Given the description of an element on the screen output the (x, y) to click on. 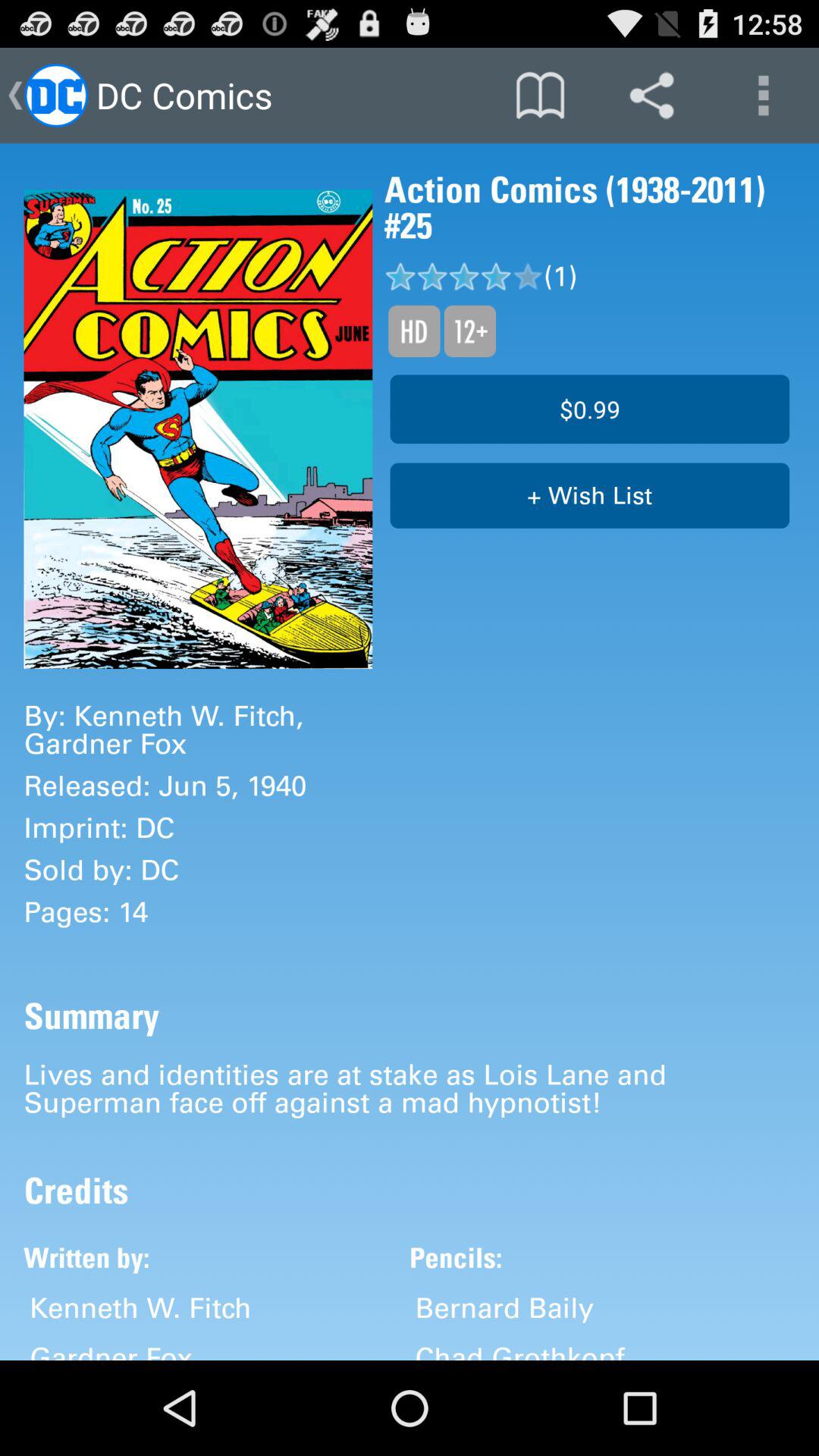
jump until the + wish list item (589, 495)
